Given the description of an element on the screen output the (x, y) to click on. 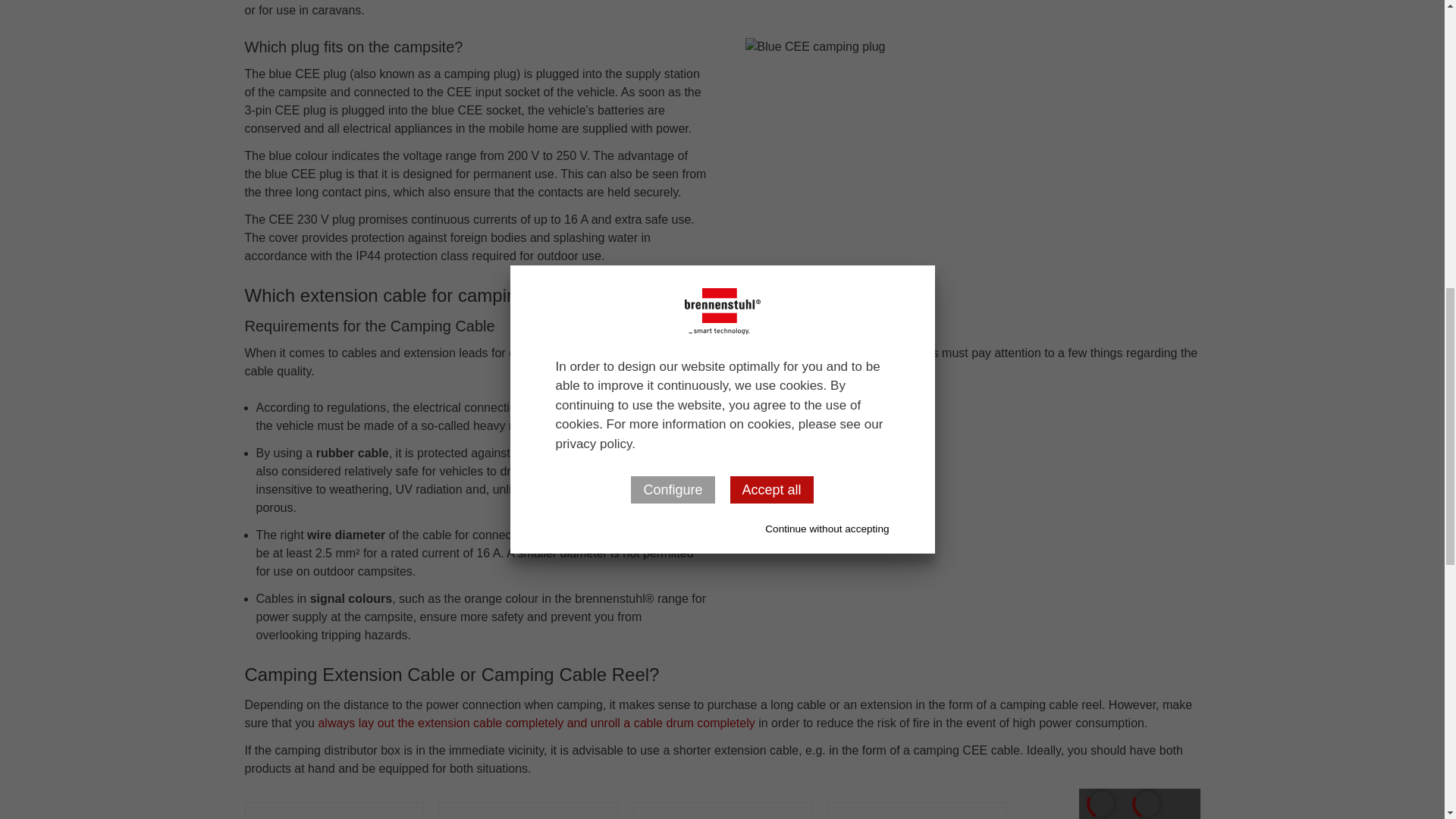
Requirements Camping Cable (825, 407)
Blue CEE camping plug (971, 132)
